Given the description of an element on the screen output the (x, y) to click on. 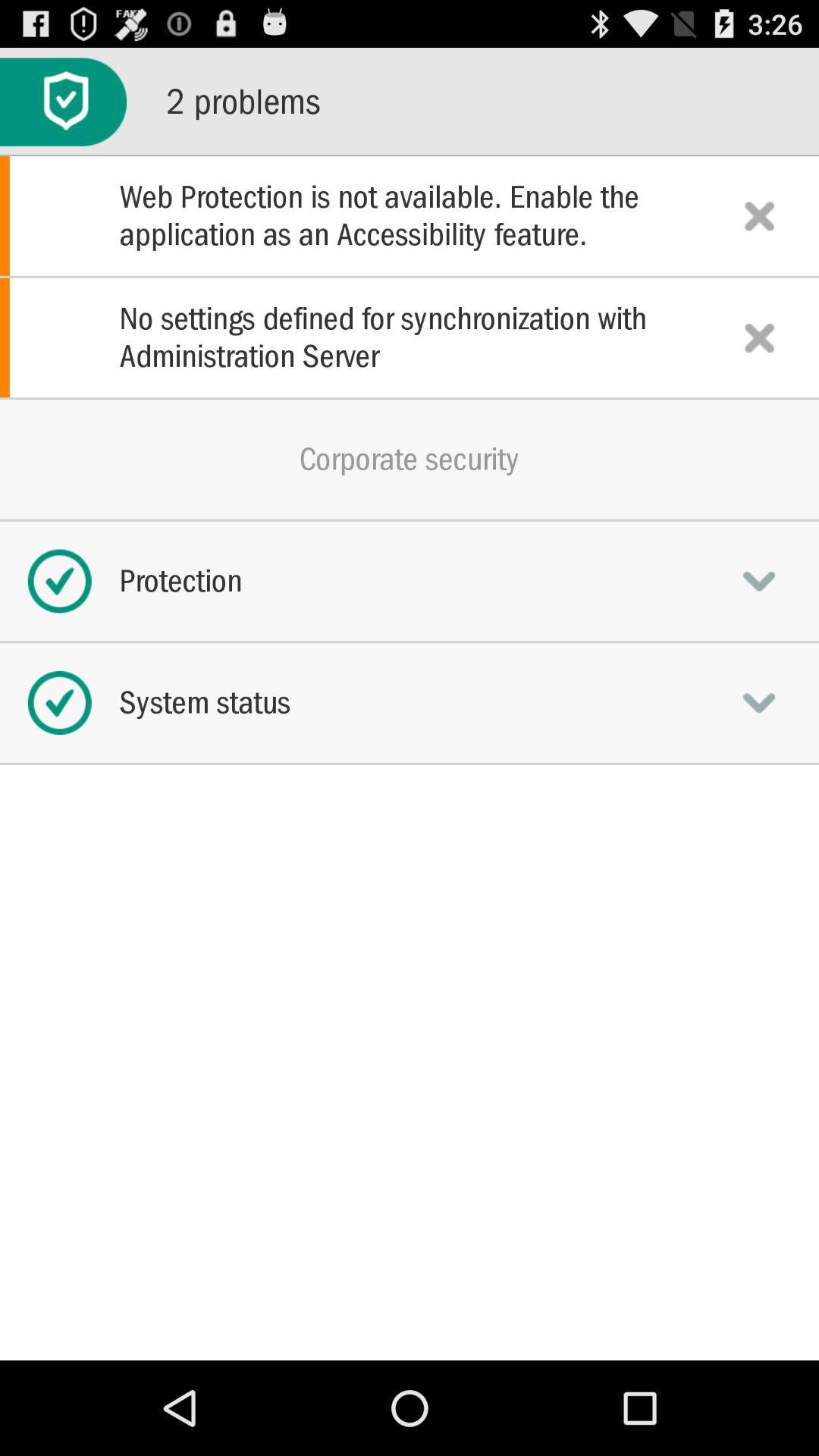
close section (759, 215)
